Given the description of an element on the screen output the (x, y) to click on. 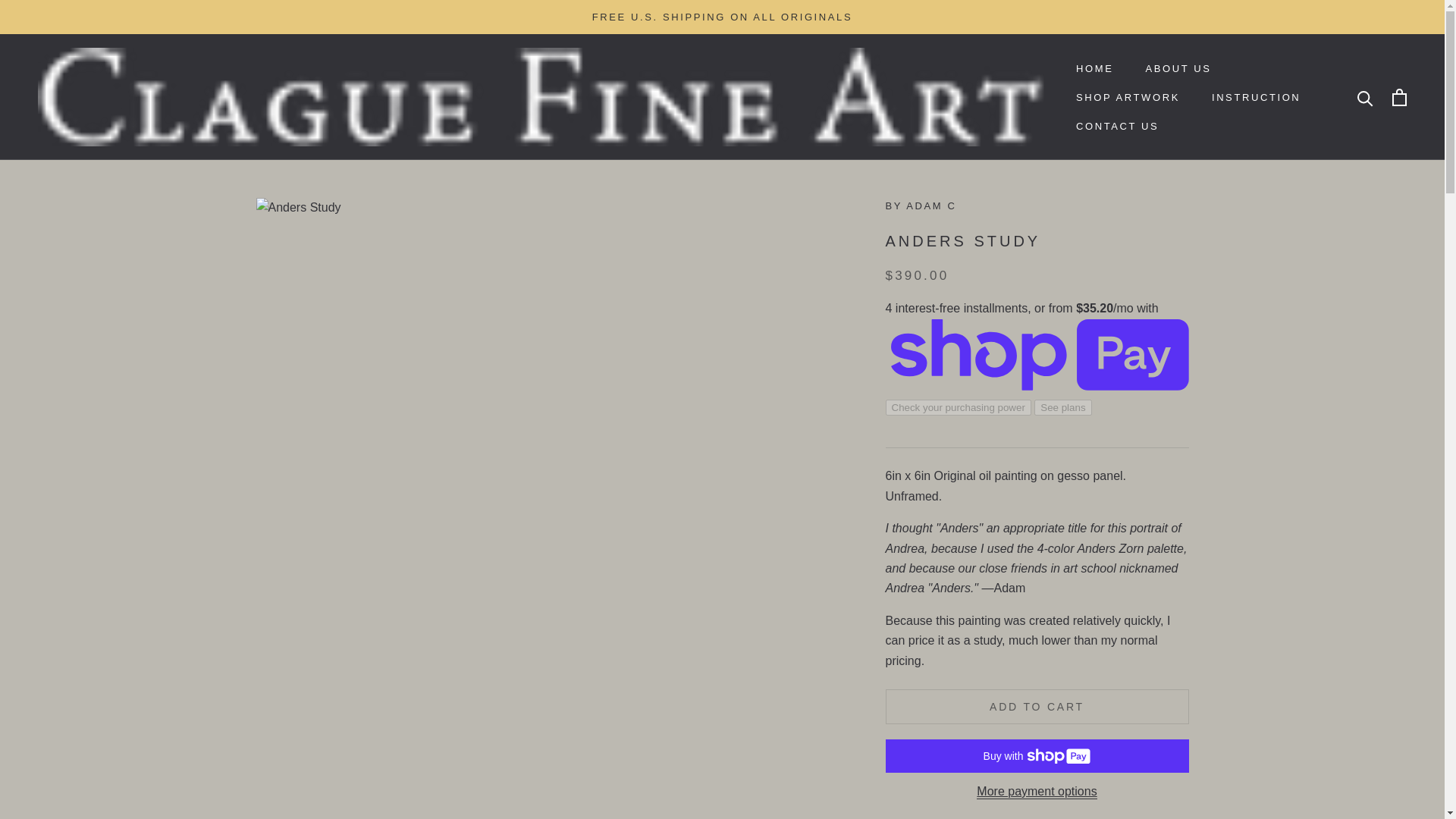
ADD TO CART (1094, 67)
INSTRUCTION (1127, 97)
More payment options (1116, 125)
